Given the description of an element on the screen output the (x, y) to click on. 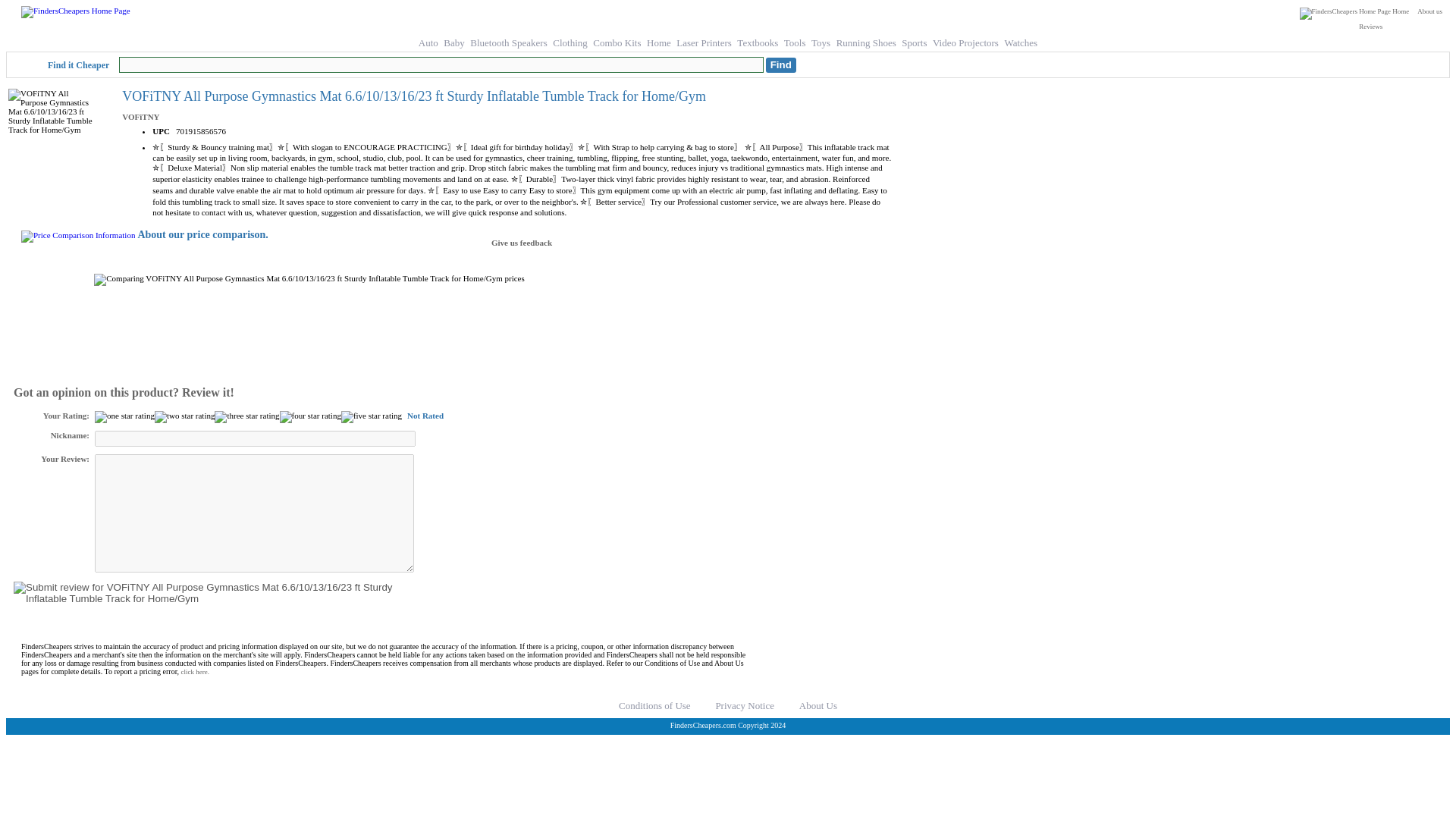
Privacy Notice (744, 705)
FindersCheapers Home Page (1345, 13)
Give us feedback (521, 242)
 Home (1354, 11)
Laser Printers (704, 42)
Baby (454, 42)
Clothing (570, 42)
Find (780, 64)
Bluetooth Speakers (508, 42)
Auto (428, 42)
Baby (454, 42)
Home (658, 42)
Watches (1020, 42)
Tools (795, 42)
Textbooks (756, 42)
